Given the description of an element on the screen output the (x, y) to click on. 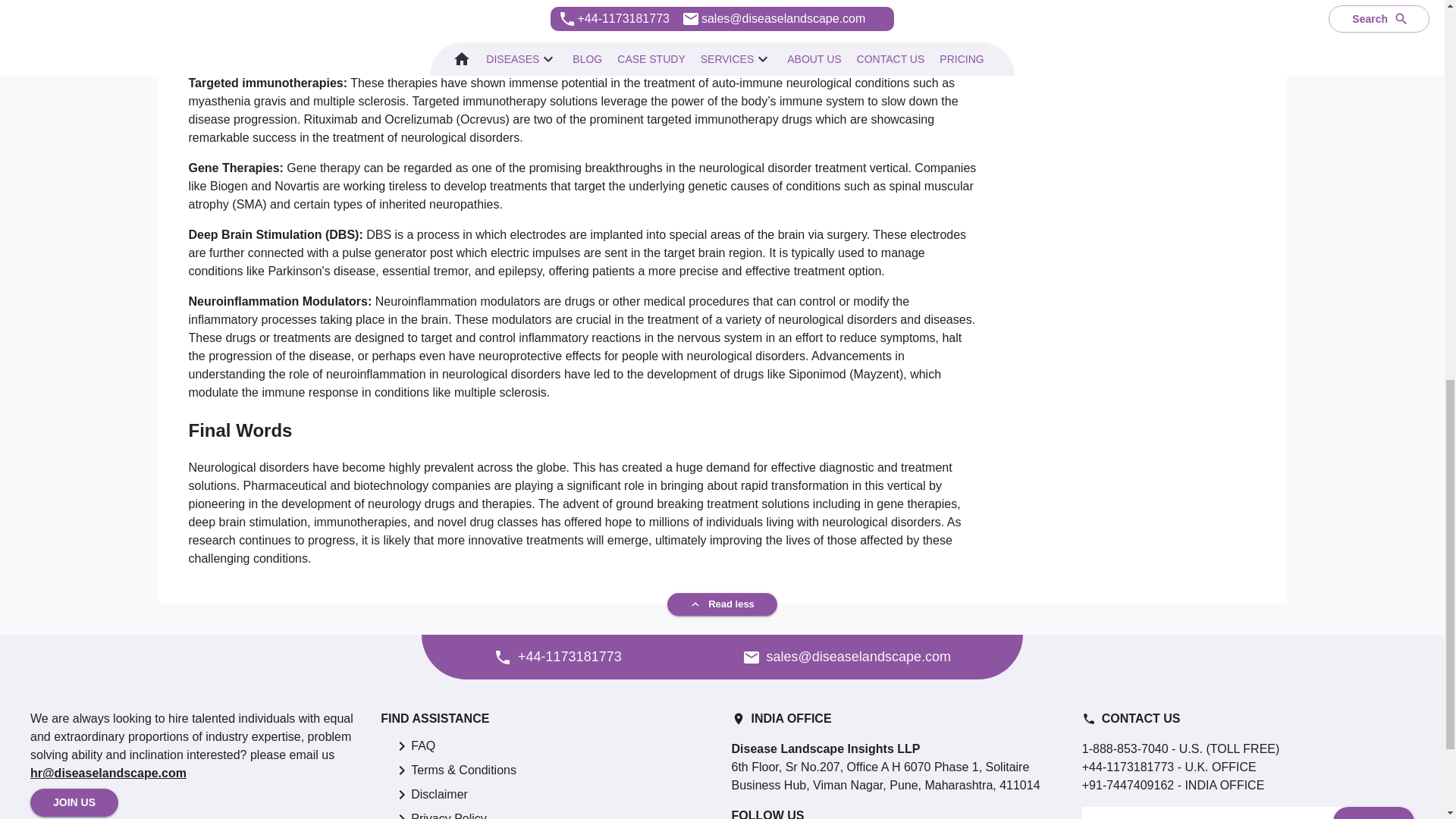
Read less (721, 604)
JOIN US (73, 802)
Talk to sale (748, 660)
FAQ (422, 746)
Disclaimer (438, 794)
Subscribe (1373, 812)
Privacy Policy (448, 814)
